Given the description of an element on the screen output the (x, y) to click on. 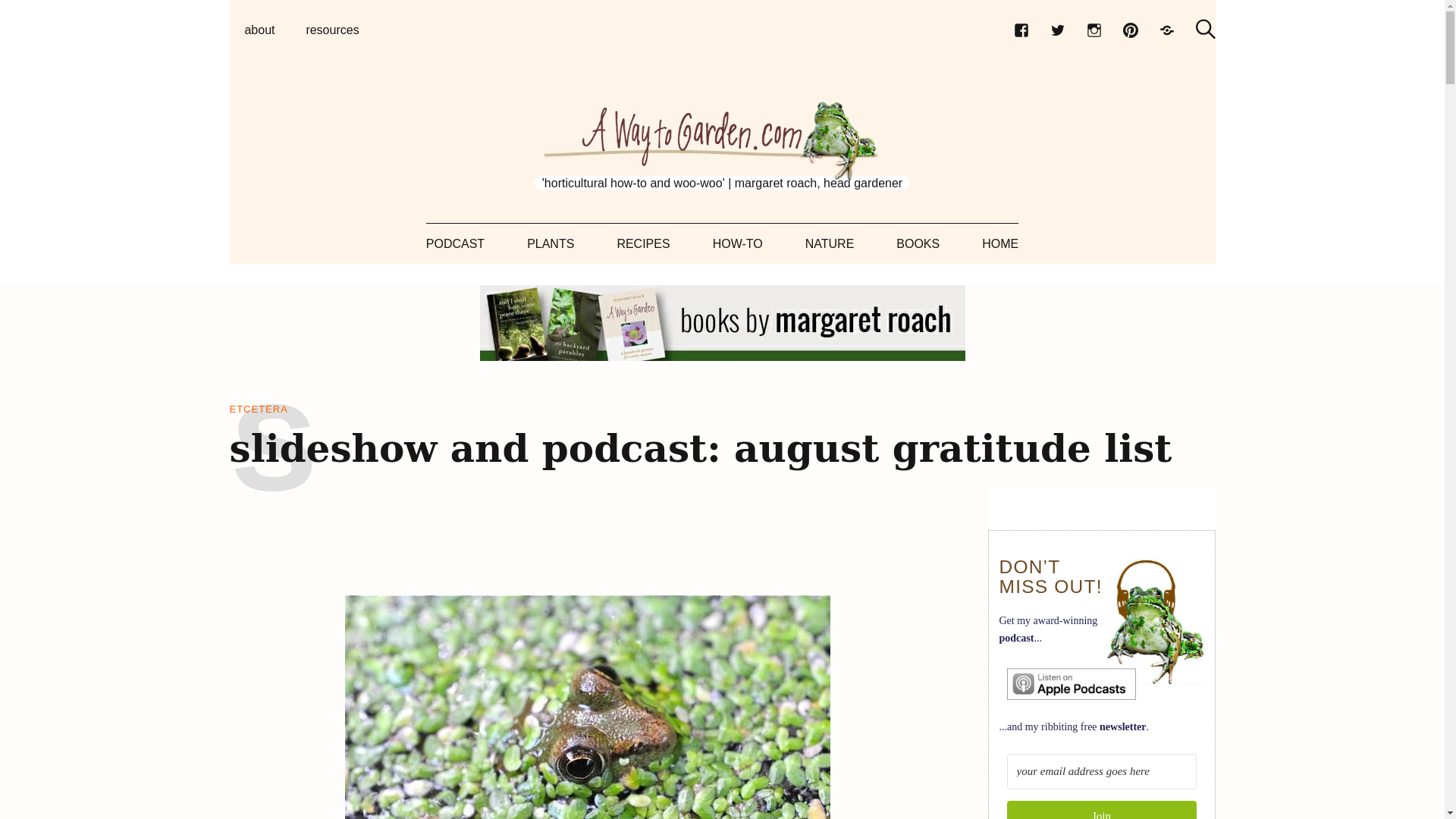
Facebook (1020, 29)
resources (331, 29)
frog gives the hairy eyeball (586, 707)
PODCAST (455, 243)
Instagram (1093, 29)
RECIPES (642, 243)
Feed (1165, 29)
NATURE (829, 243)
A Way To Garden Podcast (1071, 684)
Pintrest (1129, 29)
